Given the description of an element on the screen output the (x, y) to click on. 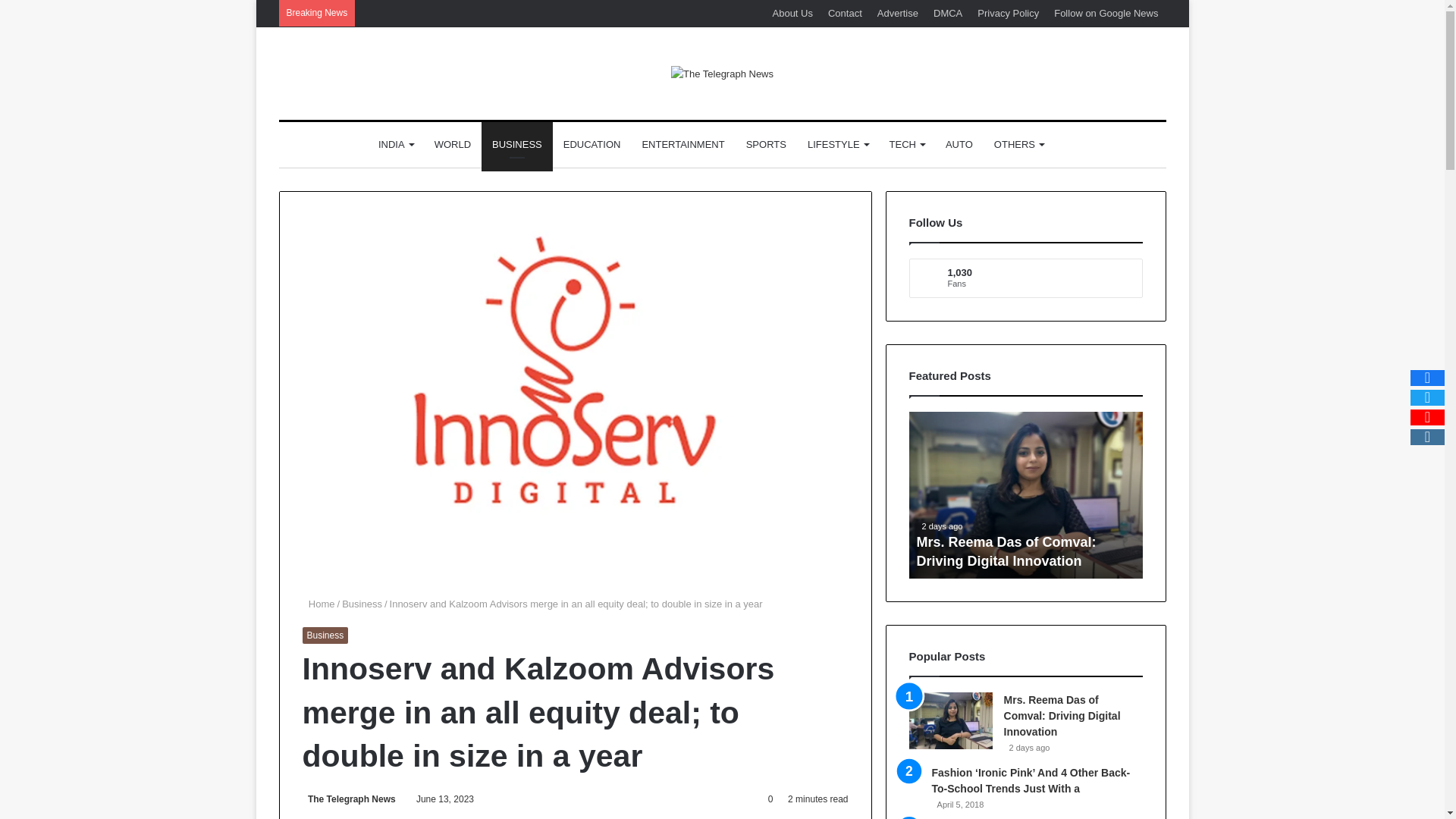
BUSINESS (517, 144)
EDUCATION (592, 144)
LIFESTYLE (837, 144)
WORLD (452, 144)
OTHERS (1019, 144)
Advertise (897, 13)
DMCA (947, 13)
About Us (791, 13)
TECH (906, 144)
SPORTS (765, 144)
